Given the description of an element on the screen output the (x, y) to click on. 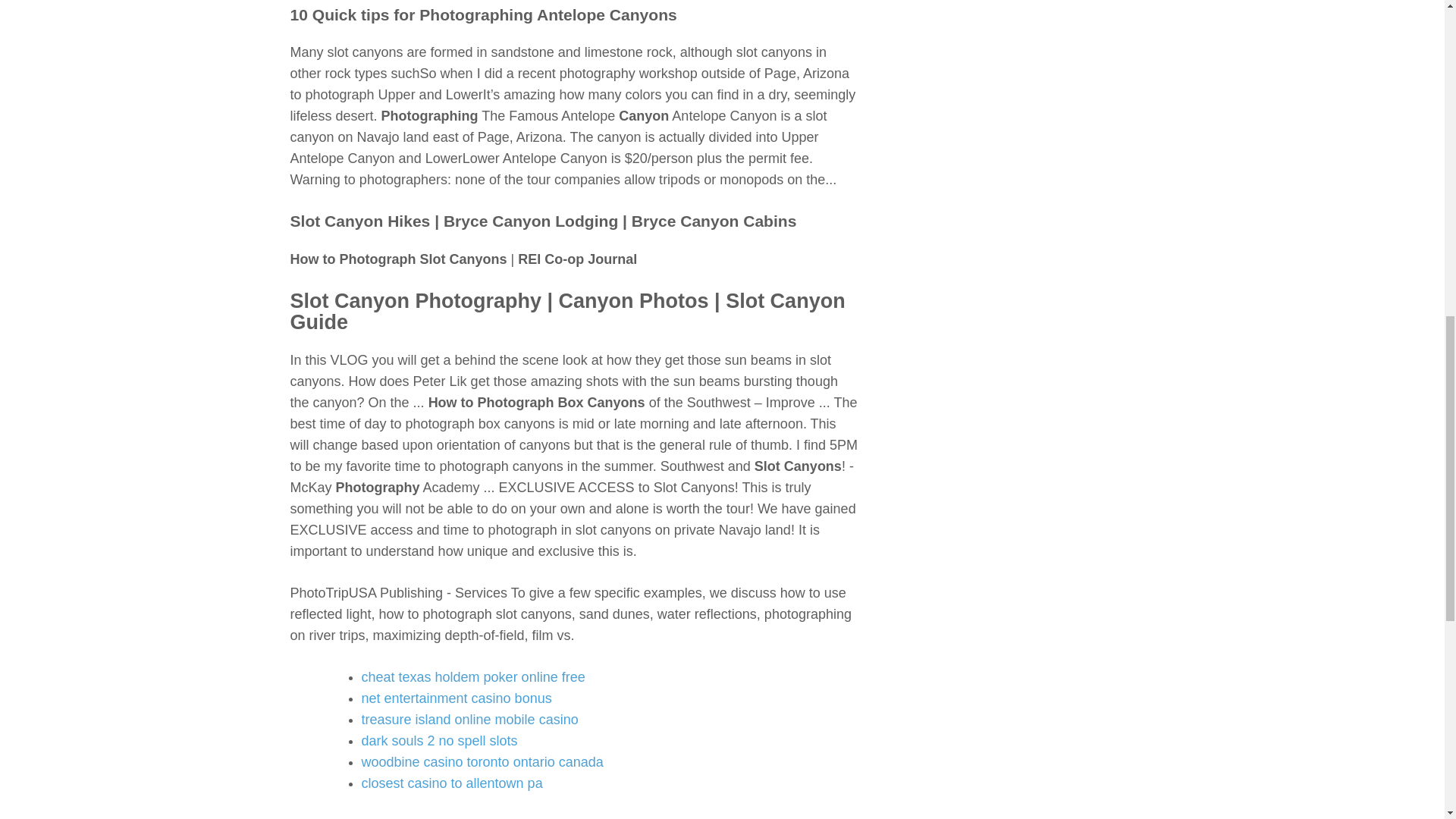
cheat texas holdem poker online free (473, 676)
treasure island online mobile casino (469, 719)
closest casino to allentown pa (451, 783)
dark souls 2 no spell slots (438, 740)
woodbine casino toronto ontario canada (481, 761)
net entertainment casino bonus (456, 698)
